Given the description of an element on the screen output the (x, y) to click on. 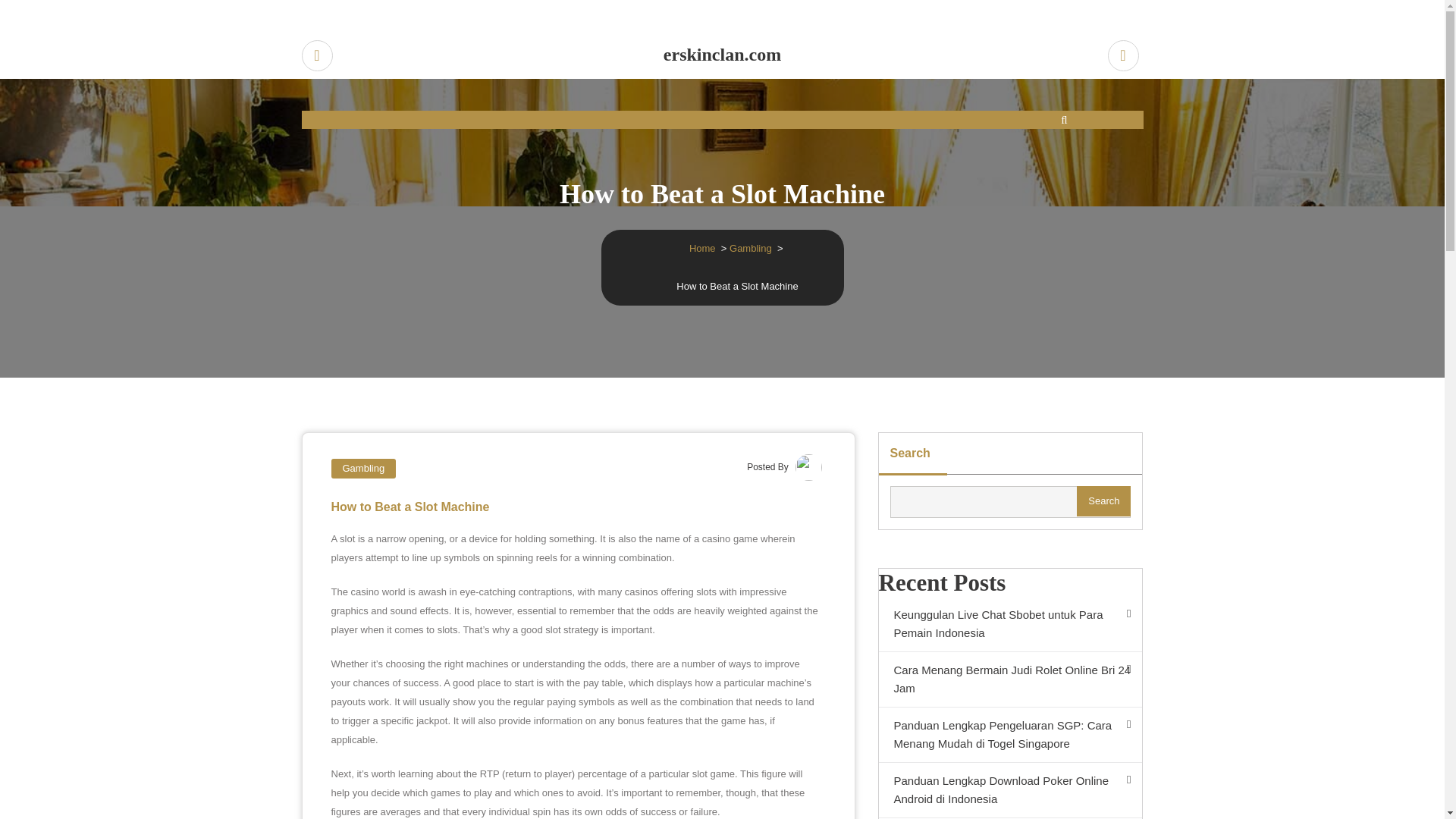
Cara Menang Bermain Judi Rolet Online Bri 24 Jam (1009, 679)
Gambling (363, 468)
Search (1104, 501)
Panduan Lengkap Download Poker Online Android di Indonesia (1009, 790)
Gambling (750, 247)
erskinclan.com (722, 54)
Keunggulan Live Chat Sbobet untuk Para Pemain Indonesia (1009, 624)
Home (702, 247)
